Given the description of an element on the screen output the (x, y) to click on. 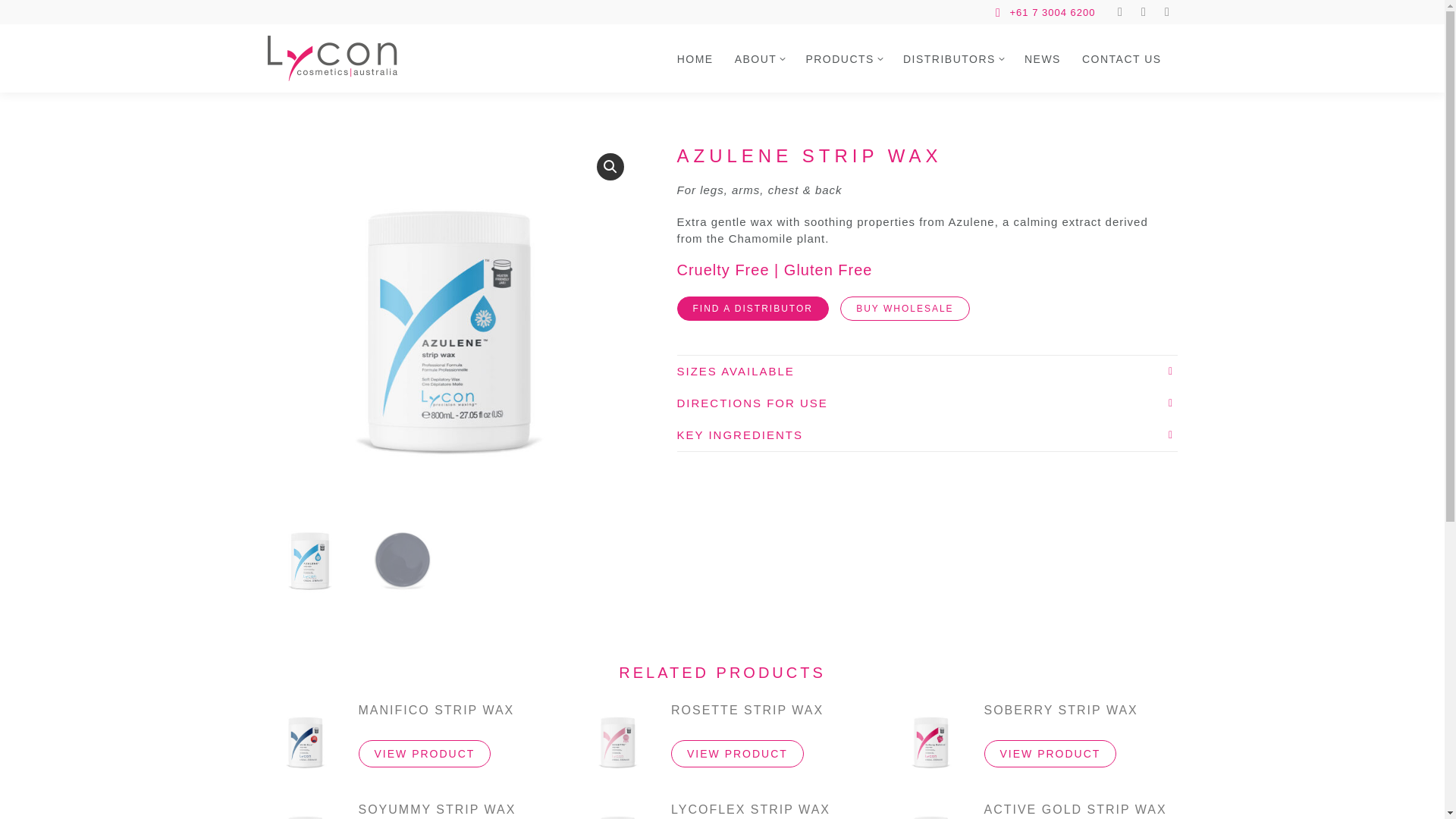
YouTube page opens in new window (1166, 12)
Instagram page opens in new window (1119, 12)
YouTube page opens in new window (1166, 12)
PRODUCTS (843, 46)
Facebook page opens in new window (1144, 12)
HOME (695, 46)
Facebook page opens in new window (1144, 12)
ABOUT (759, 46)
Instagram page opens in new window (1119, 12)
DISTRIBUTORS (952, 46)
